Given the description of an element on the screen output the (x, y) to click on. 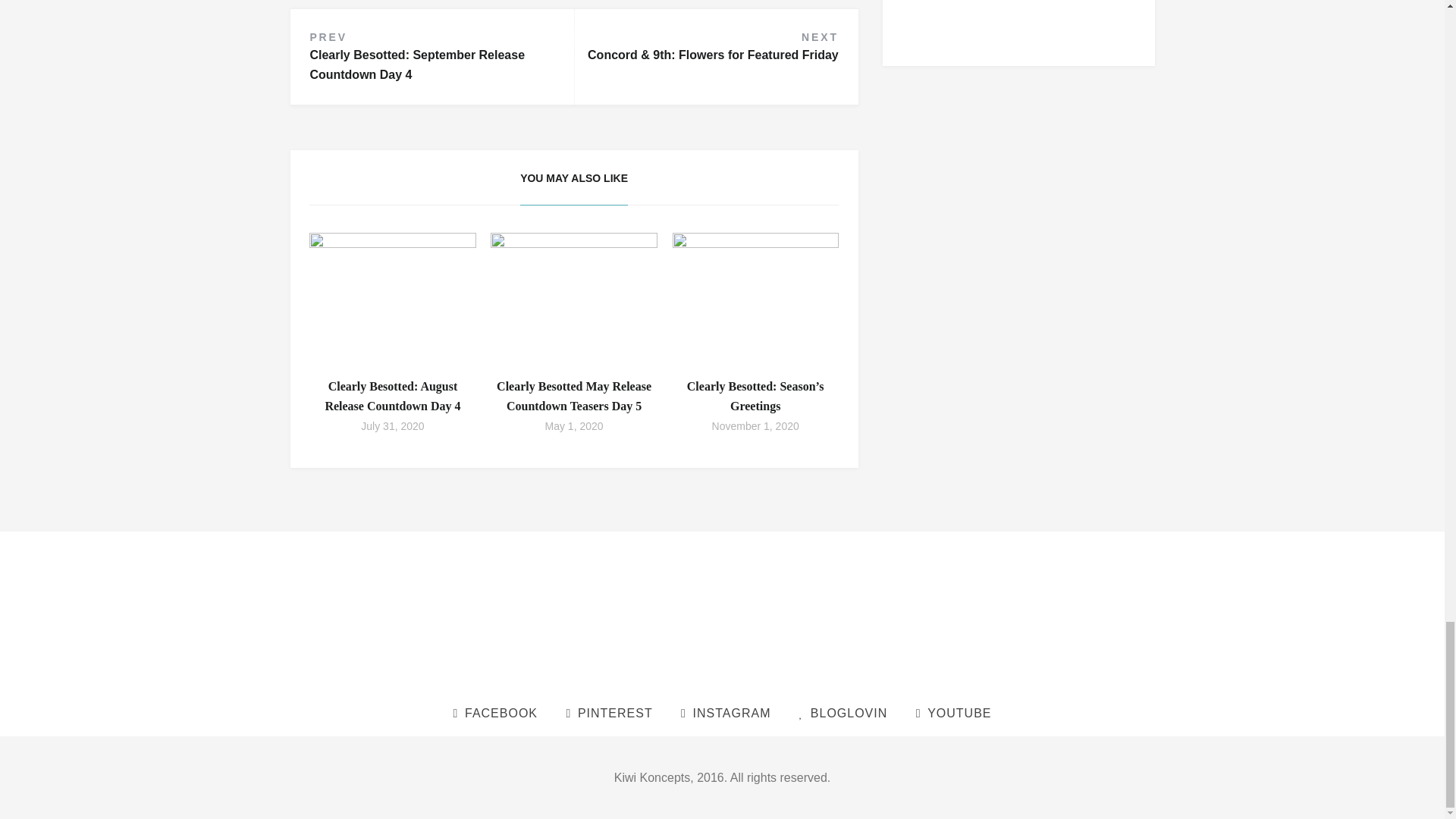
Clearly Besotted: August Release Countdown Day 4 (392, 396)
Clearly Besotted: August Release Countdown Day 4 (440, 56)
Advertisement (392, 396)
July 31, 2020 (1018, 22)
Clearly Besotted May Release Countdown Teasers Day 5 (392, 426)
May 1, 2020 (573, 396)
Clearly Besotted: August Release Countdown Day 4 (574, 426)
Clearly Besotted May Release Countdown Teasers Day 5 (392, 294)
Clearly Besotted May Release Countdown Teasers Day 5 (573, 294)
